Given the description of an element on the screen output the (x, y) to click on. 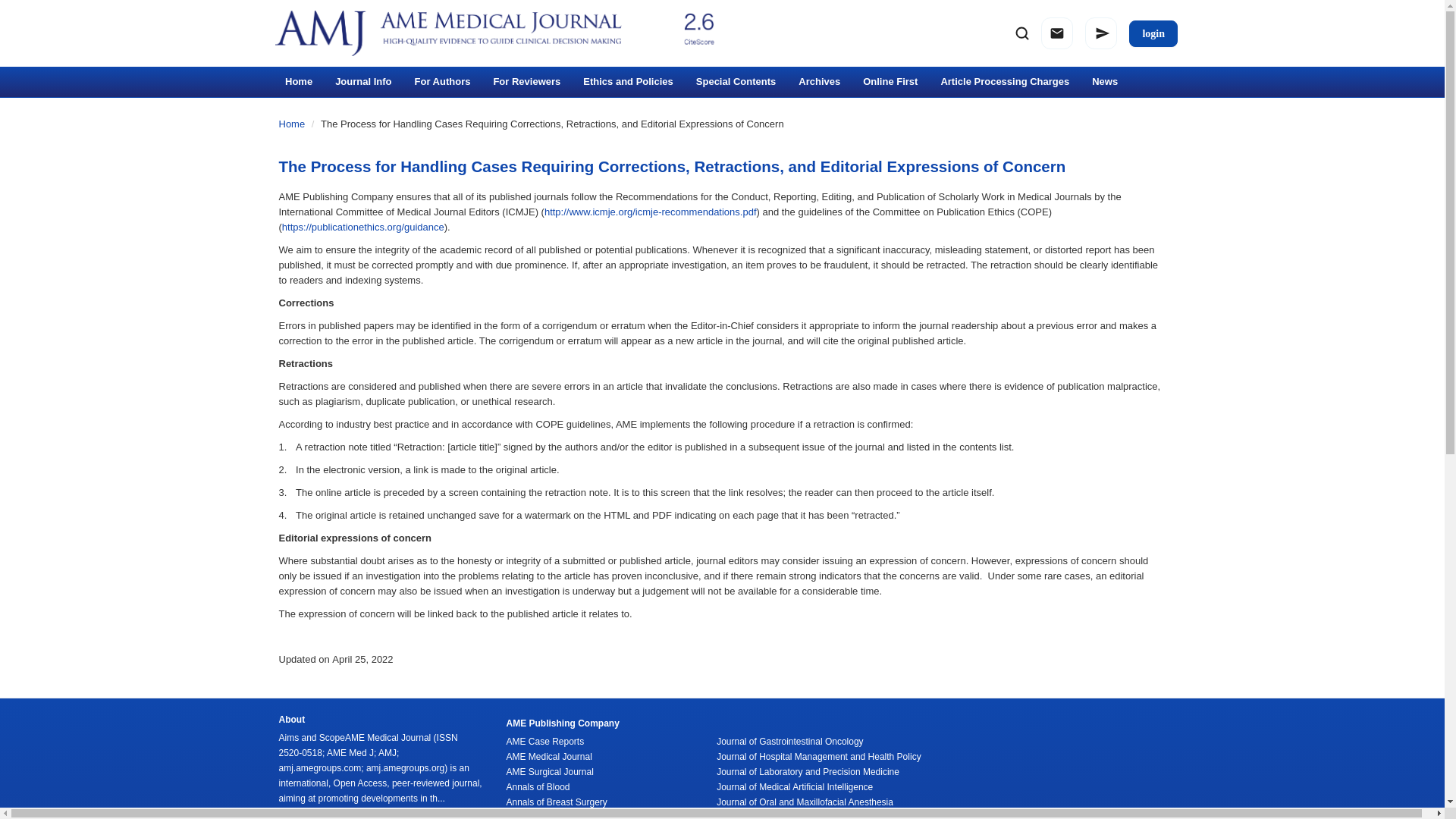
For Reviewers (526, 81)
Home (298, 81)
Ethics and Policies (628, 81)
For Authors (442, 81)
Journal Info (363, 81)
